Given the description of an element on the screen output the (x, y) to click on. 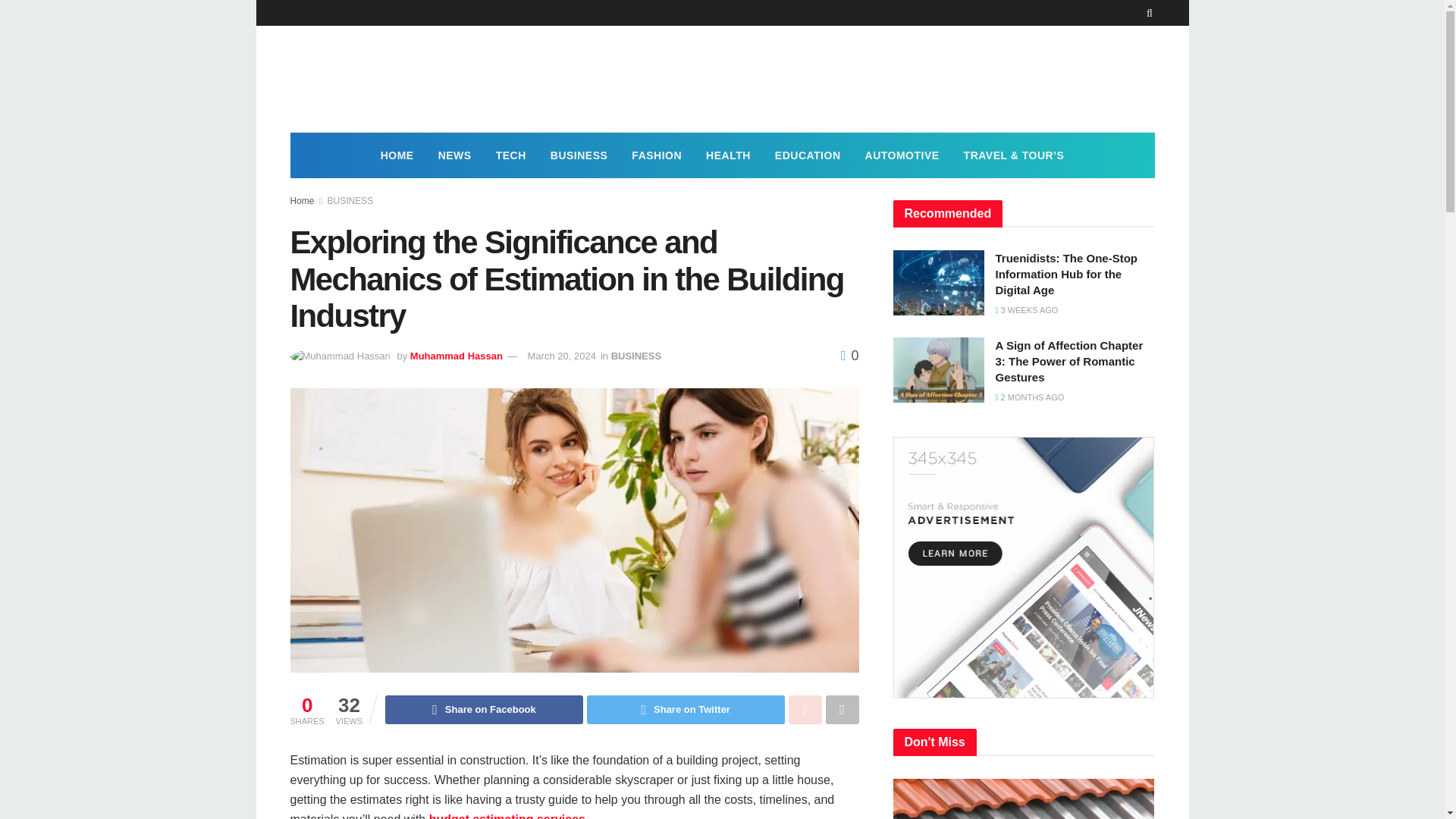
AUTOMOTIVE (902, 155)
Muhammad Hassan (456, 355)
EDUCATION (807, 155)
Home (301, 200)
March 20, 2024 (561, 355)
HEALTH (728, 155)
BUSINESS (350, 200)
BUSINESS (579, 155)
Share on Twitter (685, 709)
TECH (510, 155)
Share on Facebook (484, 709)
HOME (397, 155)
FASHION (657, 155)
0 (850, 355)
BUSINESS (636, 355)
